Given the description of an element on the screen output the (x, y) to click on. 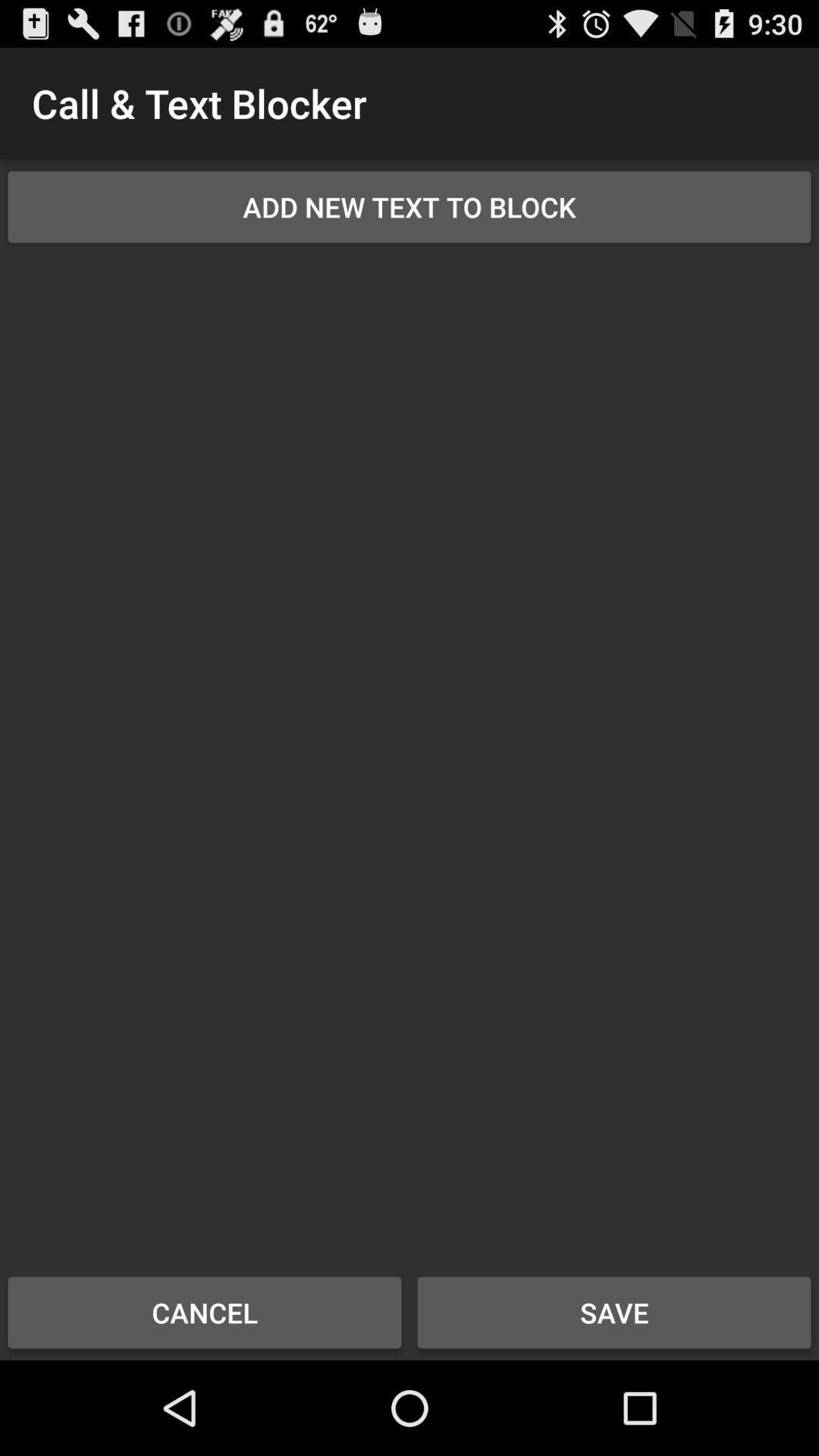
swipe to save (614, 1312)
